Given the description of an element on the screen output the (x, y) to click on. 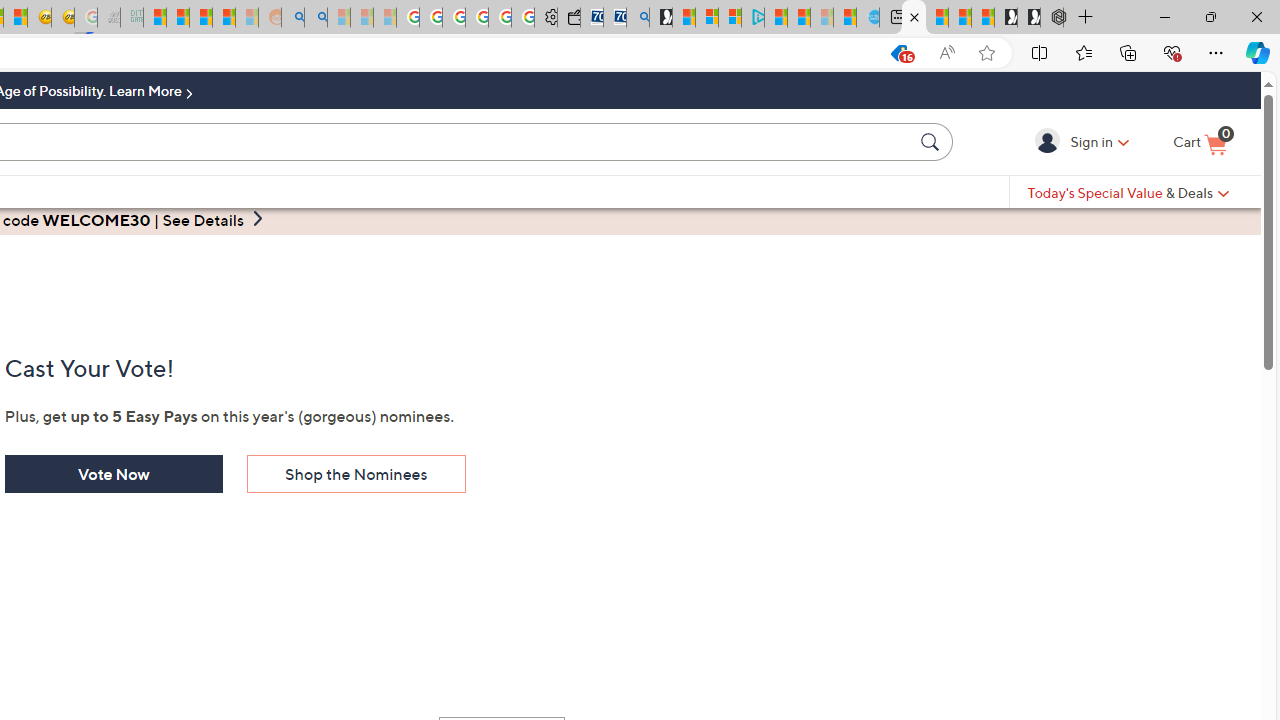
Play Free Online Games | Games from Microsoft Start (1028, 17)
Cart is Empty  (1199, 143)
Search Submit (932, 141)
Today's Special Value & Deals (1128, 192)
Home | Sky Blue Bikes - Sky Blue Bikes (867, 17)
Microsoft account | Privacy (730, 17)
This site has coupons! Shopping in Microsoft Edge, 16 (898, 53)
Vote Now (112, 474)
